Given the description of an element on the screen output the (x, y) to click on. 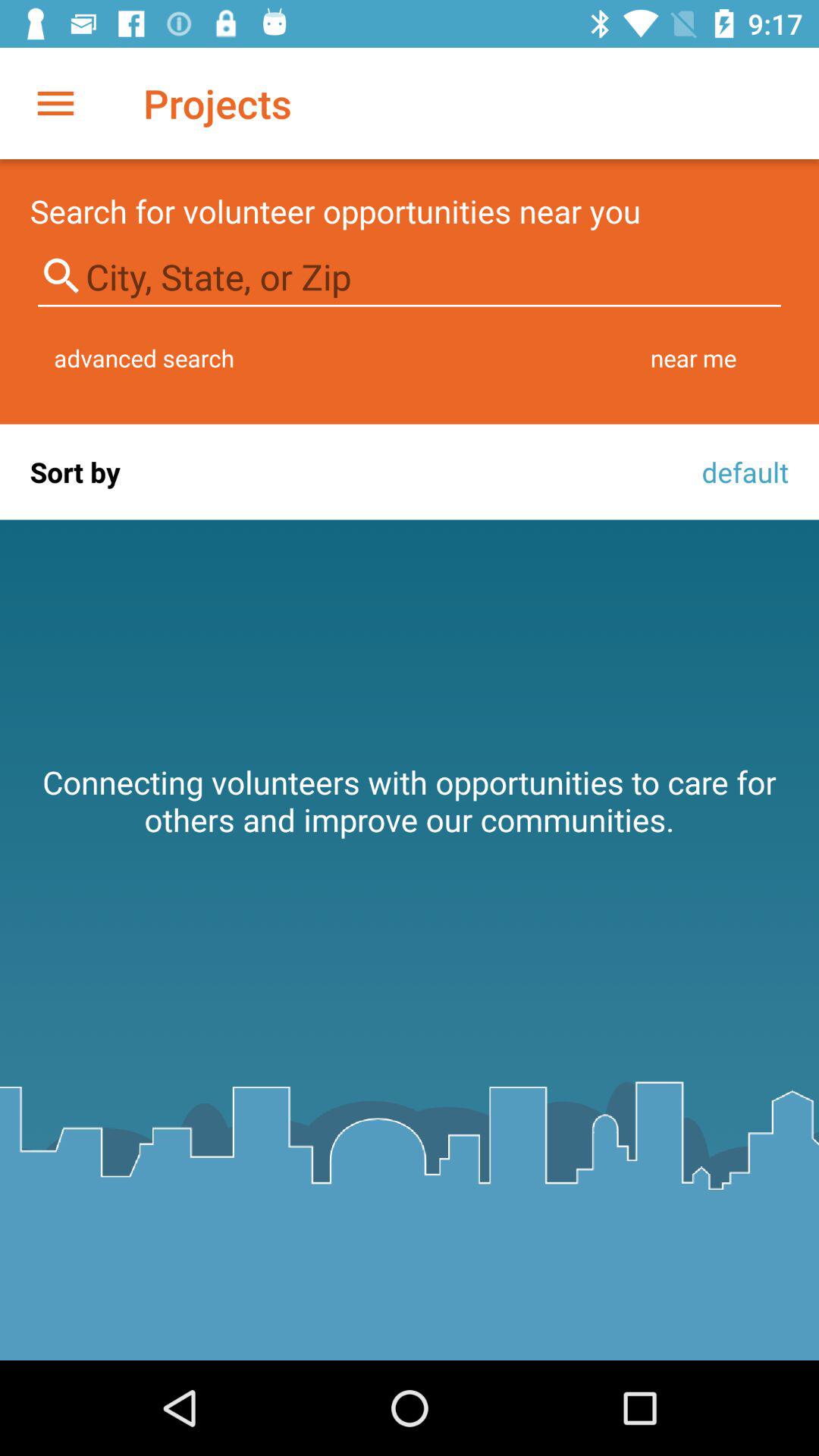
turn off icon next to the sort by item (740, 471)
